Given the description of an element on the screen output the (x, y) to click on. 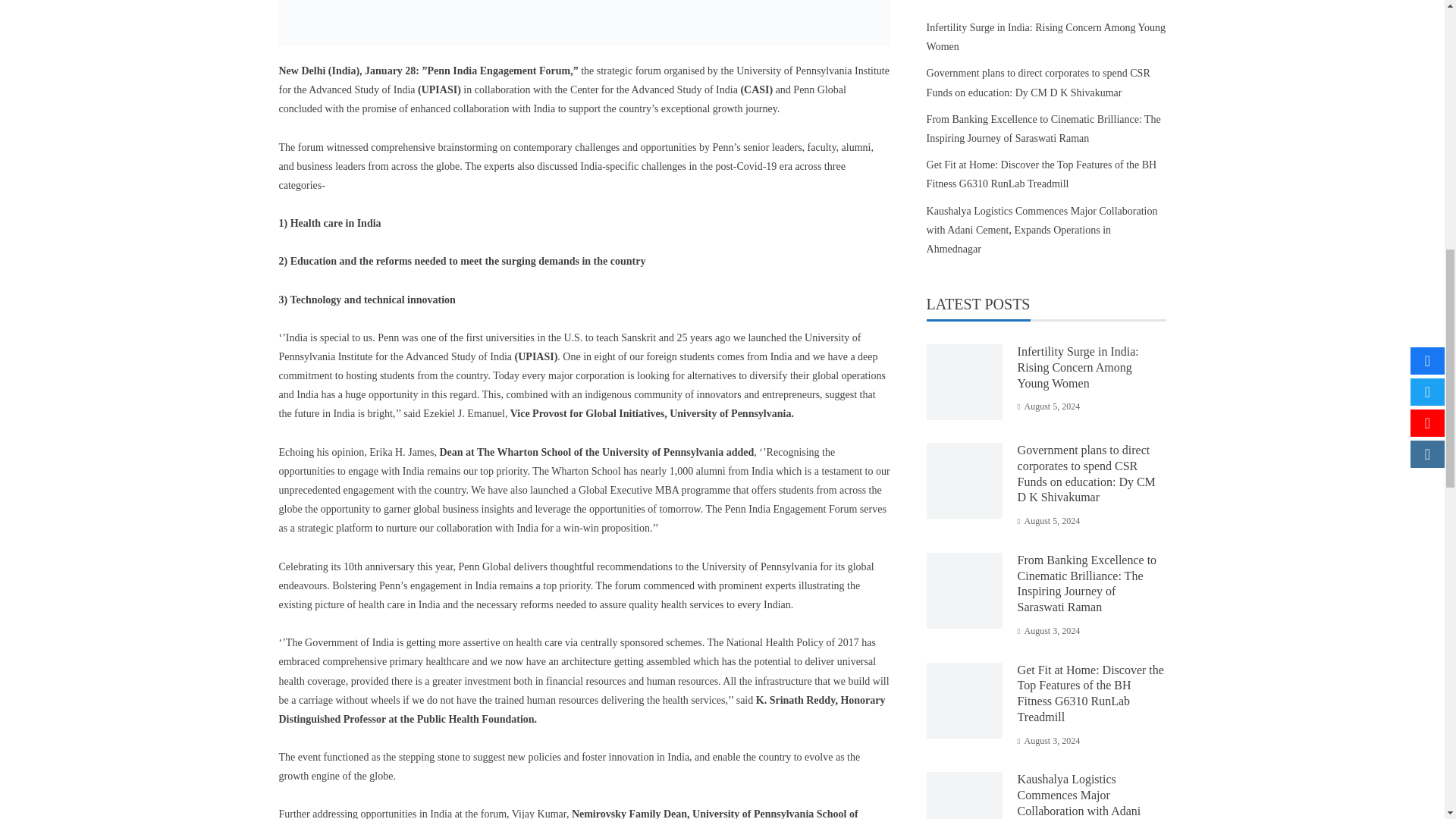
Ezekiel J. Emanuel (464, 413)
Infertility Surge in India: Rising Concern Among Young Women (1046, 37)
Vijay Kumar (539, 813)
K. Srinath Reddy (795, 699)
Infertility Surge in India: Rising Concern Among Young Women (1077, 366)
Erika H. James (401, 451)
